Given the description of an element on the screen output the (x, y) to click on. 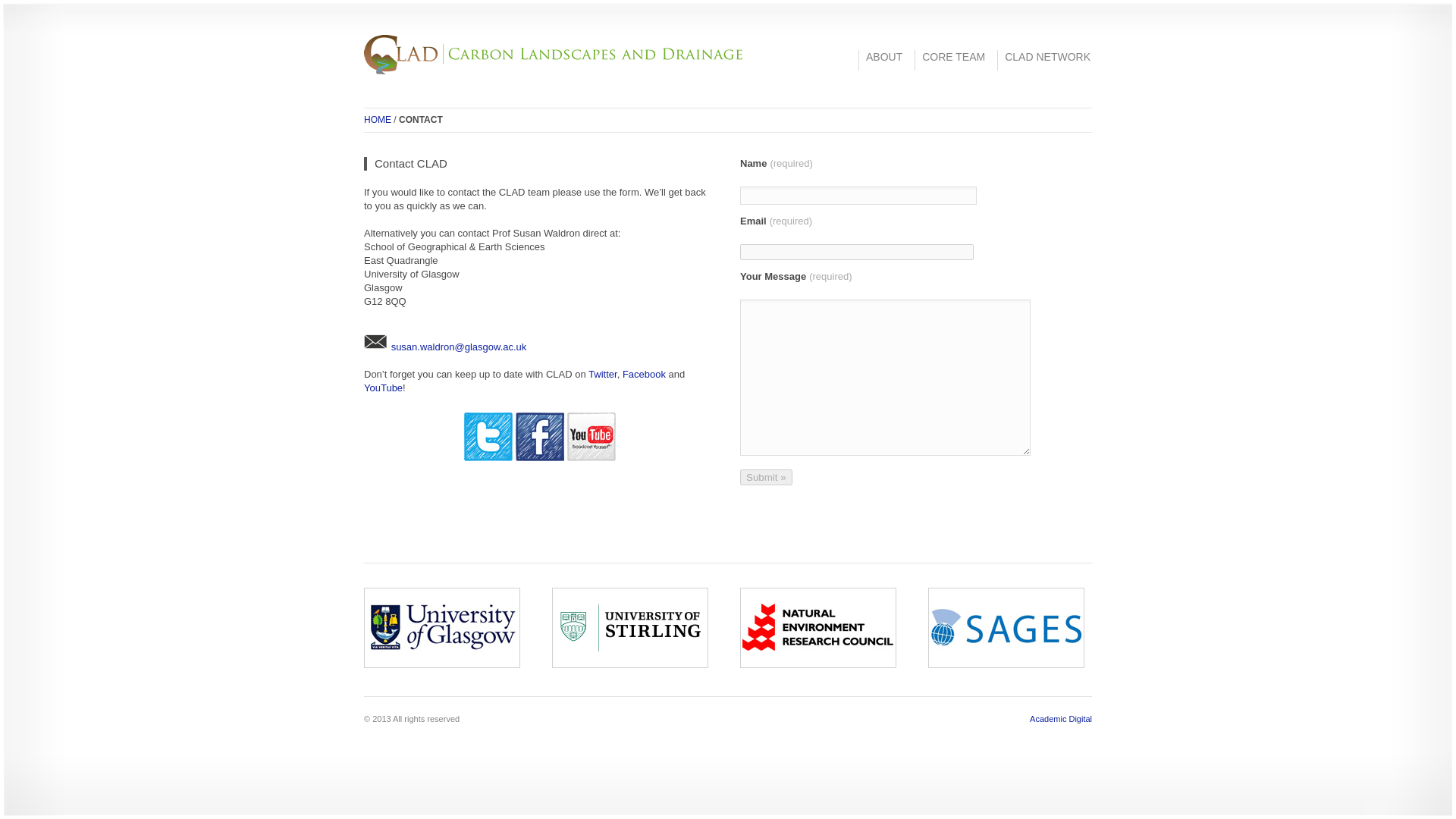
CLAD on Twitter (488, 457)
CLAD NETWORK (1043, 56)
HOME (377, 119)
CORE TEAM (949, 56)
YouTube (383, 387)
CLAD on Facebook (539, 457)
ABOUT (880, 56)
Academic Digital (1060, 718)
Twitter (602, 374)
CLAD on YouTube (591, 457)
